Given the description of an element on the screen output the (x, y) to click on. 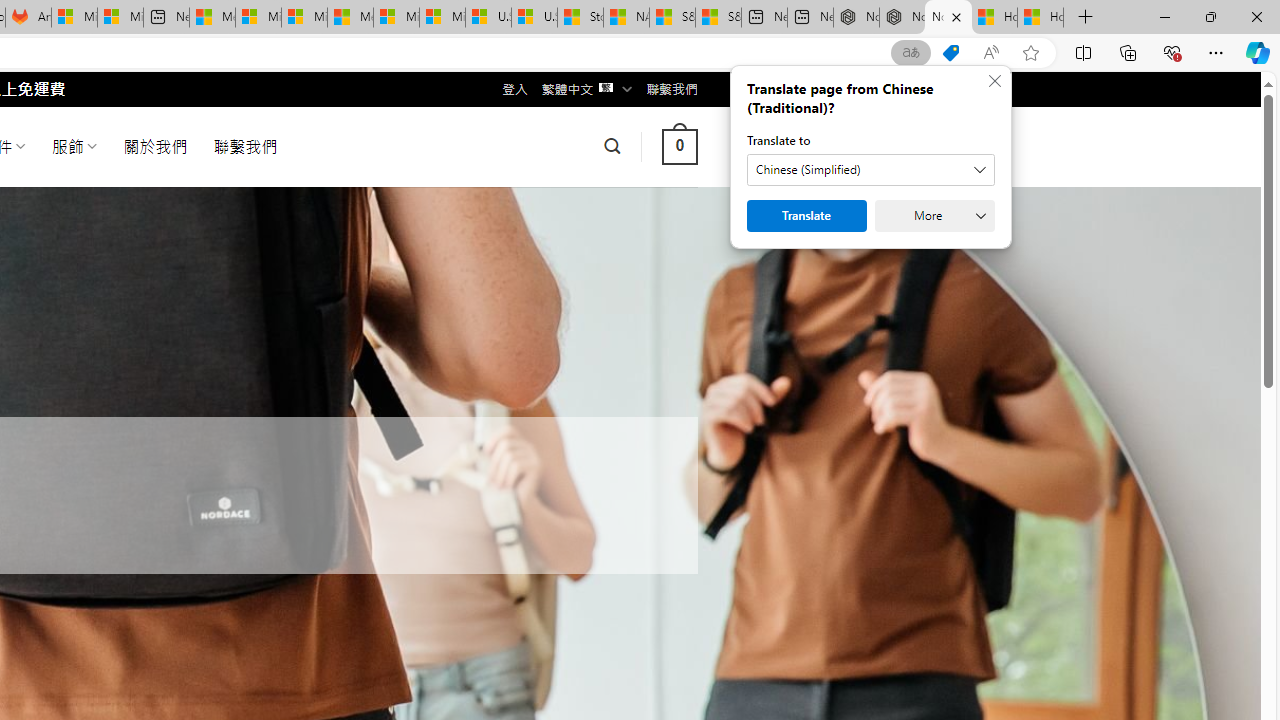
S&P 500, Nasdaq end lower, weighed by Nvidia dip | Watch (718, 17)
  0   (679, 146)
Microsoft account | Home (303, 17)
More (934, 215)
